Given the description of an element on the screen output the (x, y) to click on. 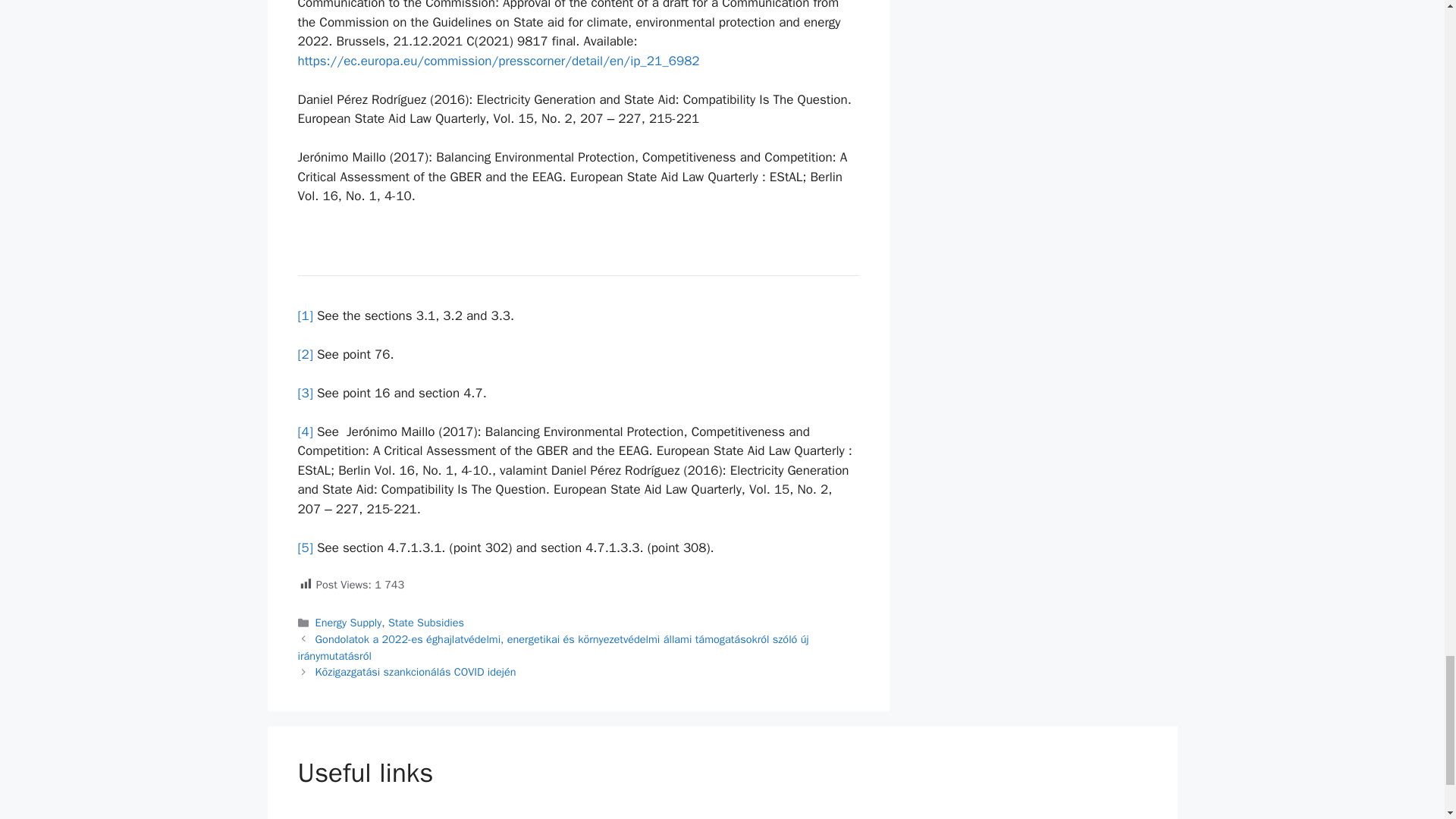
Energy Supply (348, 622)
State Subsidies (426, 622)
